Given the description of an element on the screen output the (x, y) to click on. 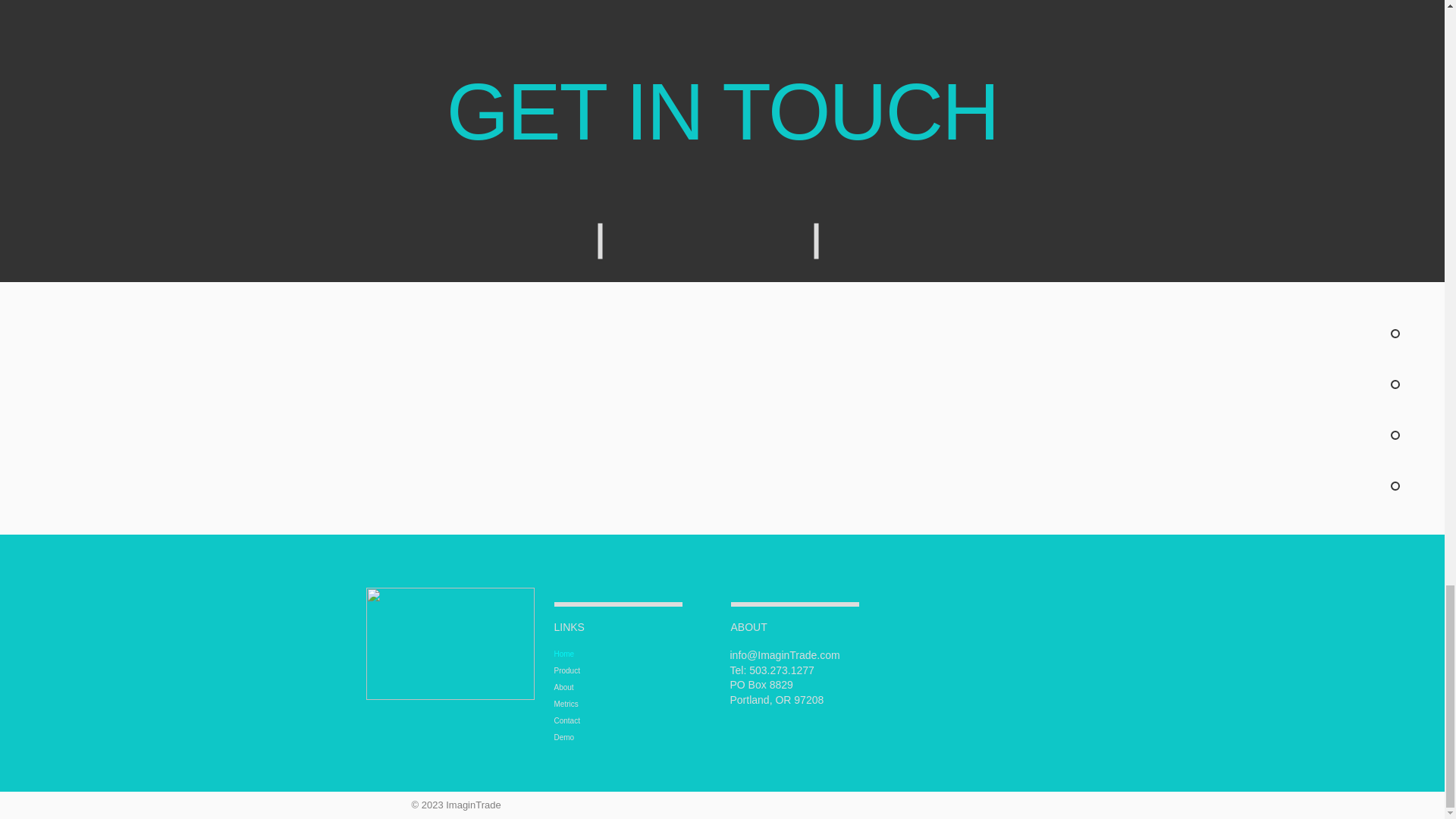
About (599, 687)
Home (599, 654)
Metrics (599, 704)
Product (599, 670)
Contact (599, 720)
Demo (599, 737)
